Given the description of an element on the screen output the (x, y) to click on. 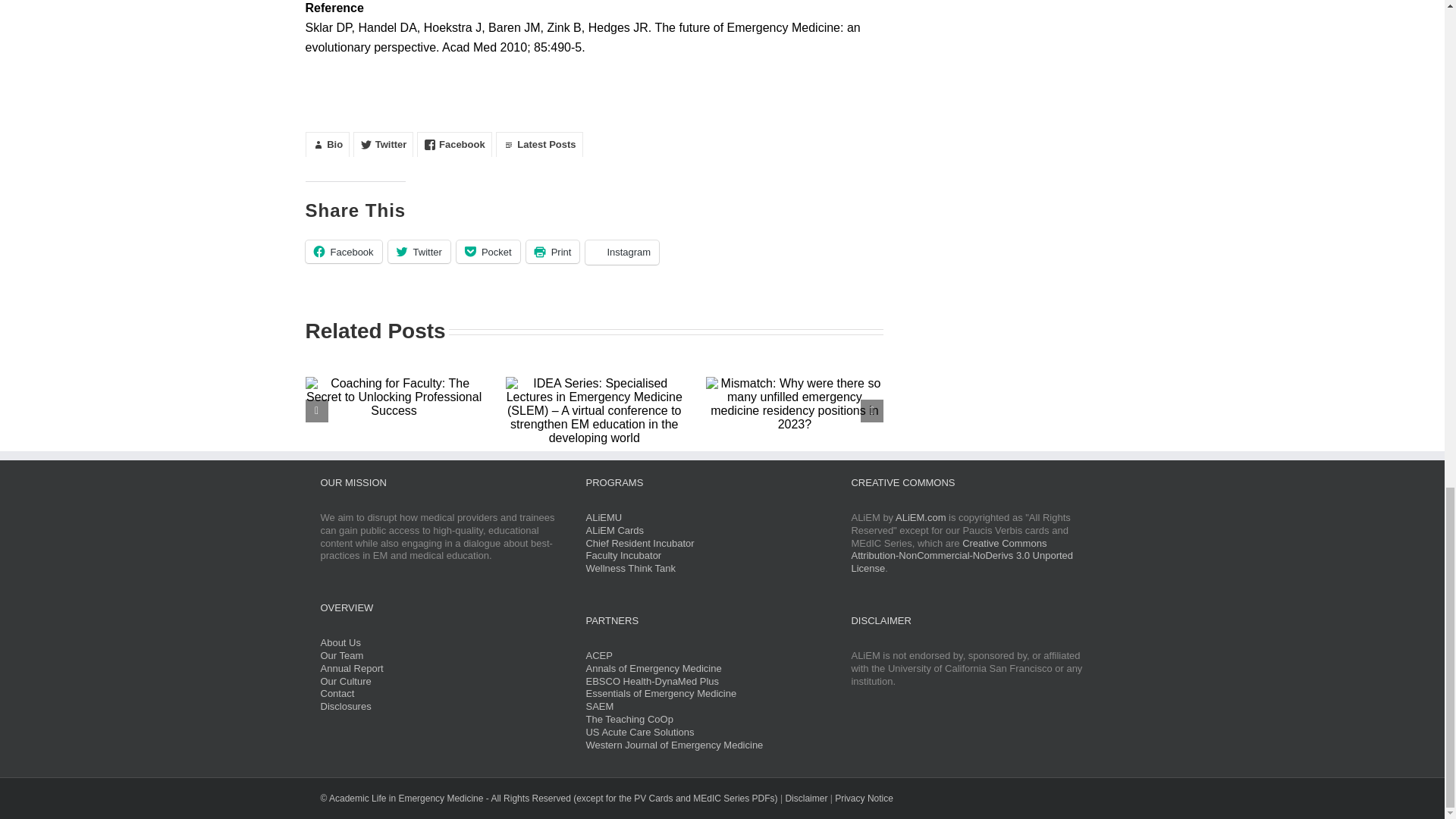
Click to share on Pocket (488, 251)
Click to share on Twitter (418, 251)
Click to share on Facebook (342, 251)
